Given the description of an element on the screen output the (x, y) to click on. 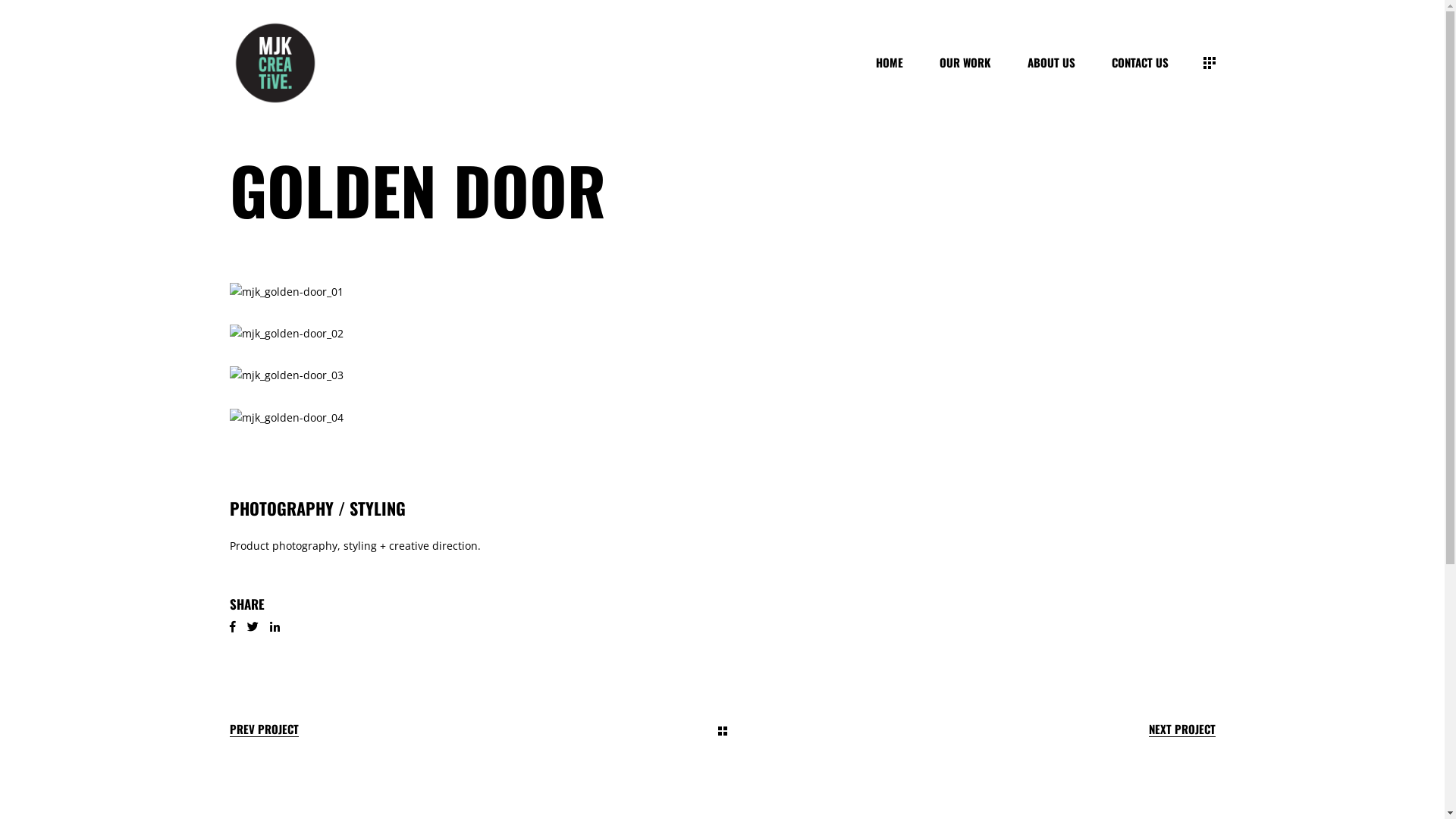
mjk_golden-door_01 Element type: hover (721, 291)
ABOUT US Element type: text (1051, 62)
HOME Element type: text (889, 62)
mjk_golden-door_02 Element type: hover (721, 333)
CONTACT US Element type: text (1139, 62)
mjk_golden-door_04 Element type: hover (721, 417)
mjk_golden-door_03 Element type: hover (721, 375)
NEXT PROJECT Element type: text (1181, 729)
OUR WORK Element type: text (965, 62)
PREV PROJECT Element type: text (263, 729)
